Given the description of an element on the screen output the (x, y) to click on. 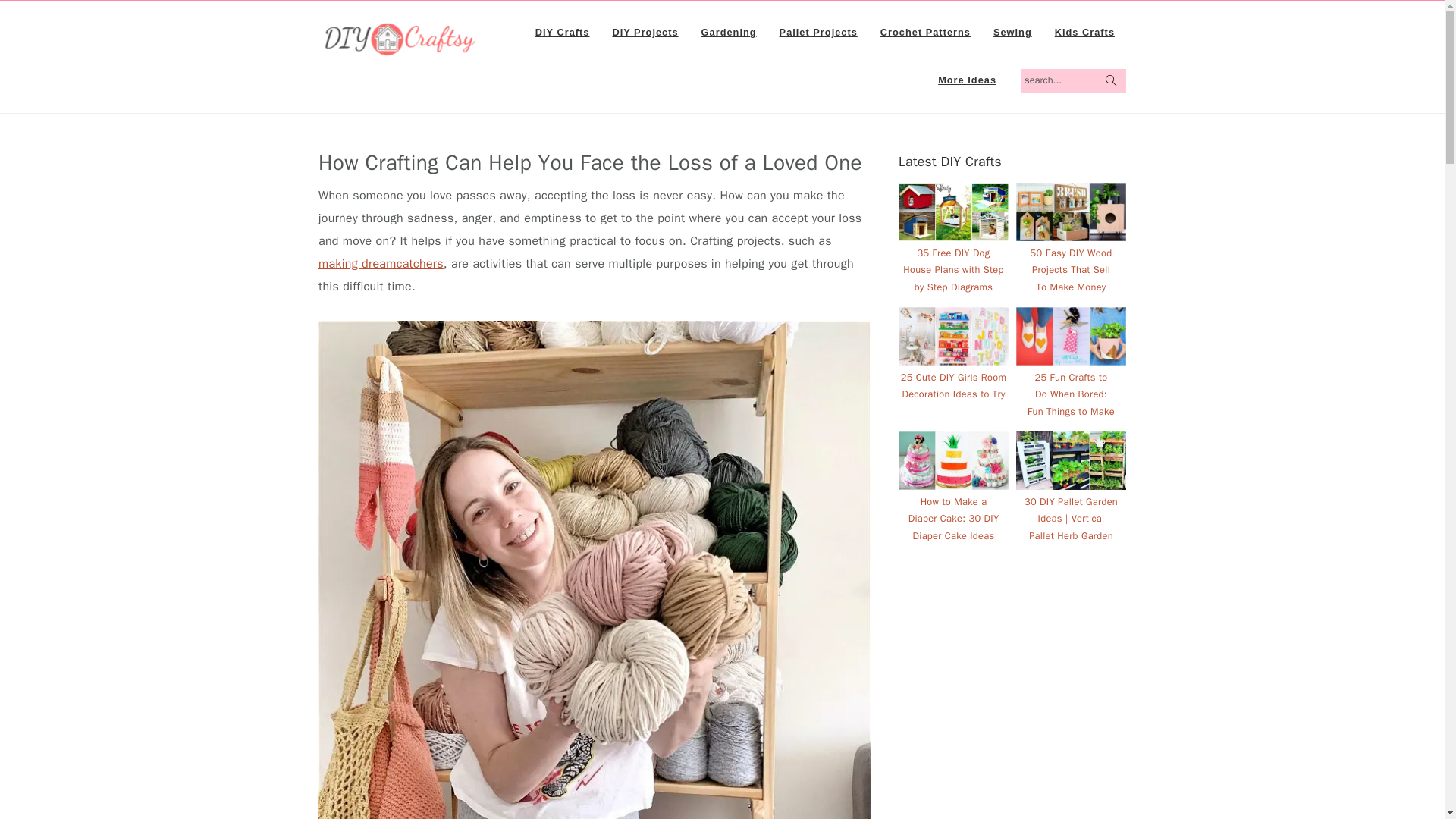
Gardening (729, 32)
Kids Crafts (1084, 32)
Pallet Projects (818, 32)
DIY Crafts (562, 32)
More Ideas (966, 80)
DIY Crafts (400, 48)
Crochet Patterns (925, 32)
Search (1128, 71)
Search (1128, 71)
